Given the description of an element on the screen output the (x, y) to click on. 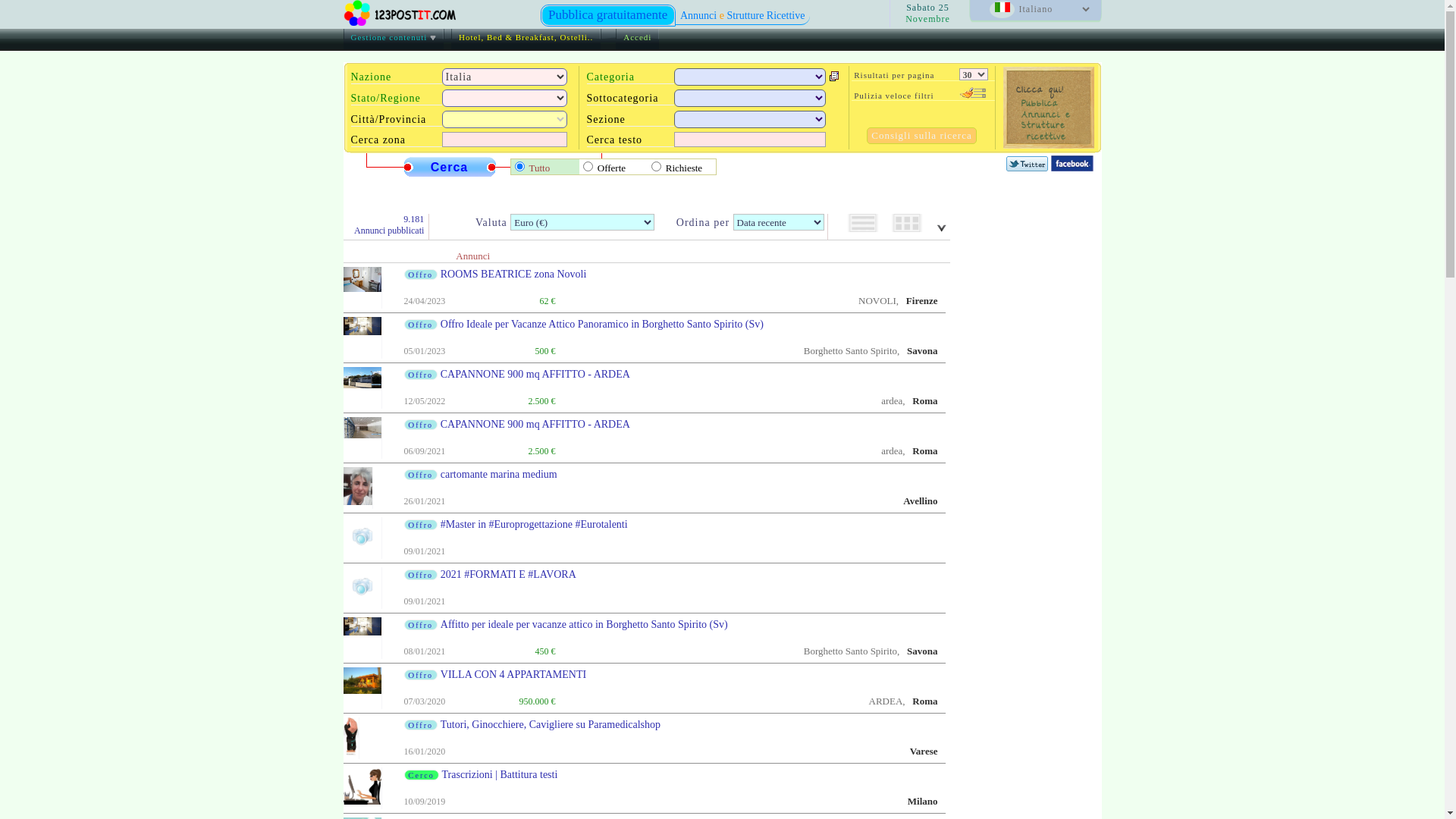
Cerca Element type: text (449, 167)
Vai giu Element type: hover (940, 228)
 Offro  cartomante marina medium
26/01/2021 Avellino Element type: text (643, 488)
  Annunci e Strutture Ricettive   Element type: text (742, 16)
 Clicca qui!   Pubblica
  Annunci e
  Strutture
   ricettive Element type: text (1047, 107)
 Offro  2021 #FORMATI E #LAVORA
09/01/2021 Element type: text (643, 588)
Pulisce tutti i campi della Ricerca Element type: hover (972, 92)
Accedi Element type: text (636, 38)
Hotel, Bed & Breakfast, Ostelli.. Element type: text (525, 38)
Segui 123postit.com su Facebook Element type: hover (1072, 162)
 Cerco  Trascrizioni | Battitura testi
10/09/2019 Milano Element type: text (643, 788)
Visualizza gli annunci in blocchi Element type: hover (906, 222)
2 Element type: text (587, 165)
Gestione contenuti  Element type: text (392, 38)
Consigli sulla ricerca Element type: text (920, 135)
4 Element type: text (655, 165)
Visualizza gli annunci in righe estese Element type: hover (862, 222)
  Pubblica gratuitamente   Element type: text (606, 15)
0 Element type: text (519, 165)
Segui 123postit.com su Twitter Element type: hover (1026, 163)
